Given the description of an element on the screen output the (x, y) to click on. 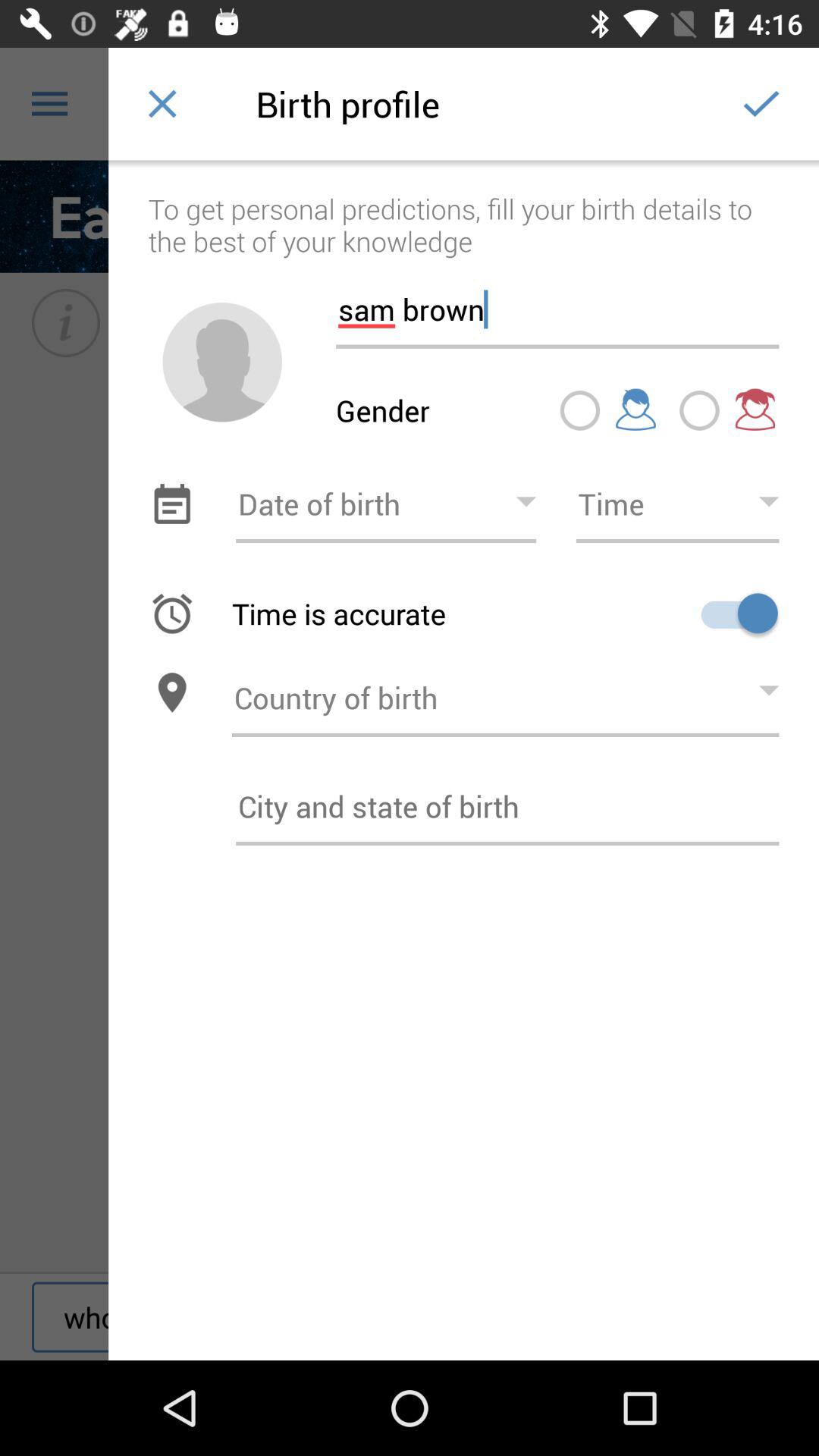
enter birth country (505, 692)
